Given the description of an element on the screen output the (x, y) to click on. 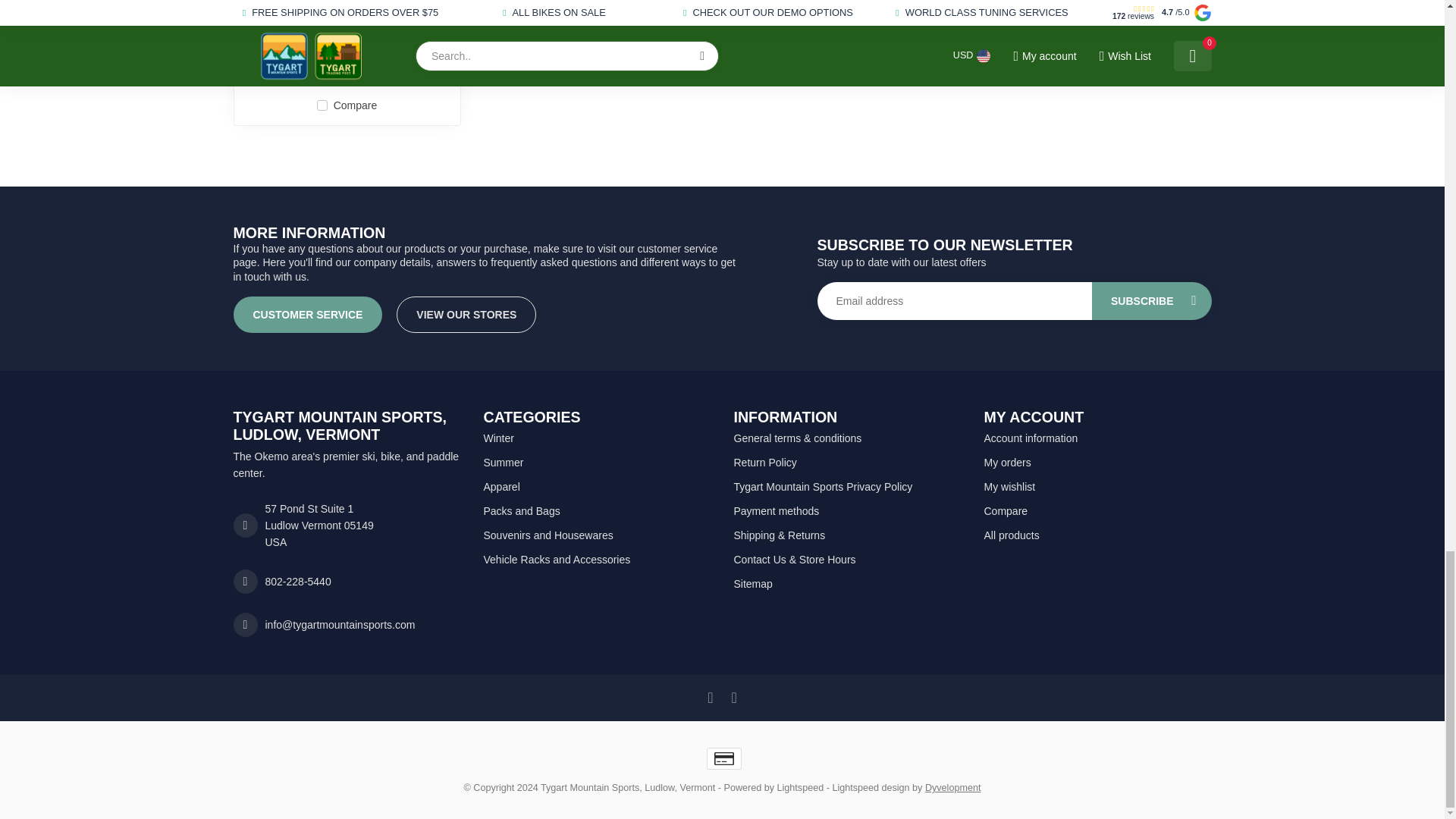
All products (1097, 535)
Giro Giro Contour Goggle (347, 47)
My orders (1097, 462)
Return Policy (846, 462)
My wishlist (1097, 486)
Payment methods (846, 510)
Sitemap (846, 583)
Account information (1097, 437)
Tygart Mountain Sports Privacy Policy (846, 486)
Giro Giro Contour Goggle (347, 10)
Compare (1097, 510)
